Given the description of an element on the screen output the (x, y) to click on. 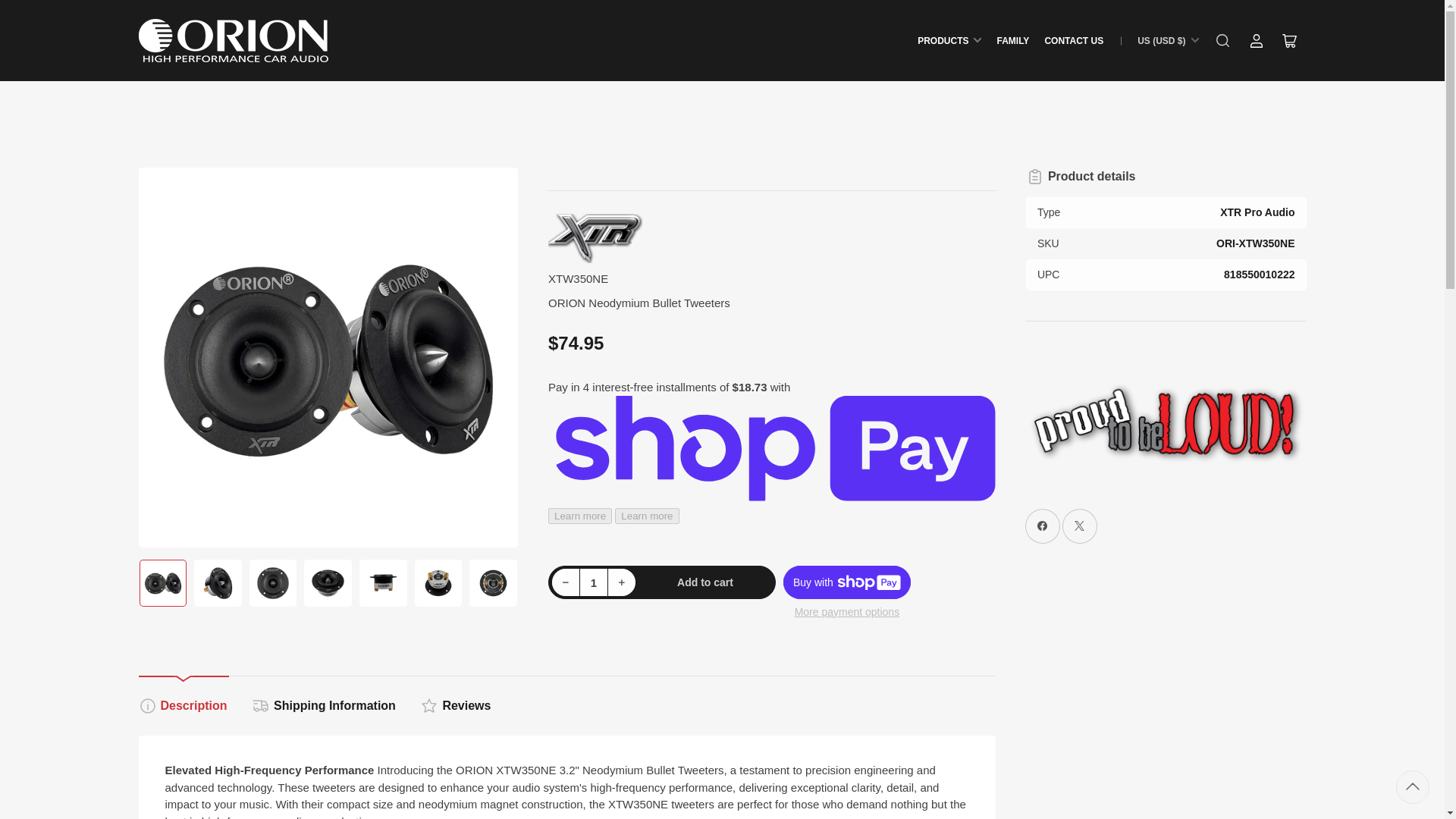
1 (593, 582)
CONTACT US (1073, 39)
FAMILY (1012, 39)
PRODUCTS (949, 39)
